Given the description of an element on the screen output the (x, y) to click on. 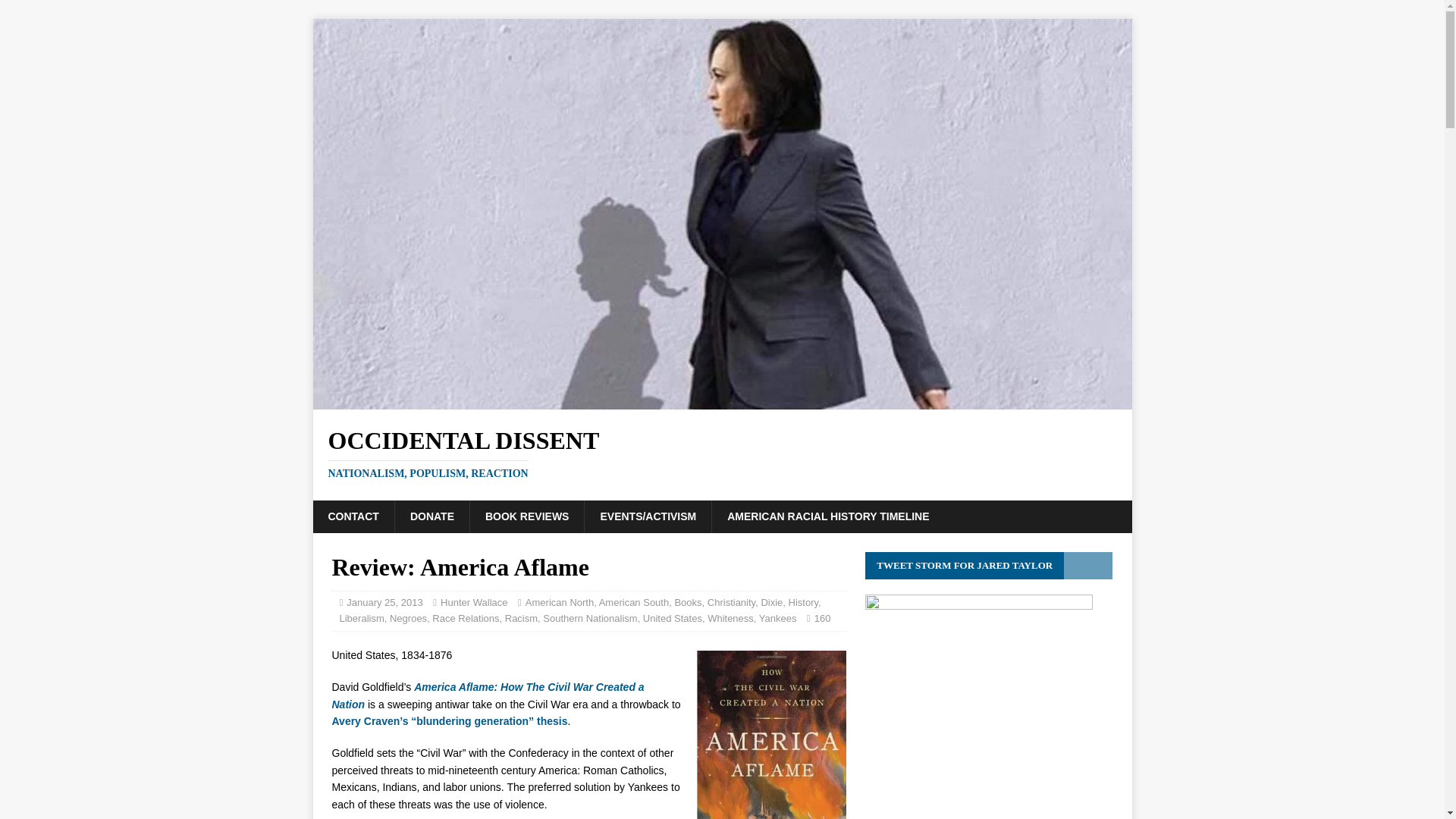
160 (822, 618)
Occidental Dissent (721, 453)
American North (559, 602)
Occidental Dissent (722, 399)
Southern Nationalism (590, 618)
America Aflame: How The Civil War Created a Nation (488, 695)
January 25, 2013 (384, 602)
Negroes (408, 618)
CONTACT (353, 516)
AMERICAN RACIAL HISTORY TIMELINE (827, 516)
Race Relations (465, 618)
BOOK REVIEWS (525, 516)
American South (633, 602)
Hunter Wallace (473, 602)
United States (672, 618)
